Given the description of an element on the screen output the (x, y) to click on. 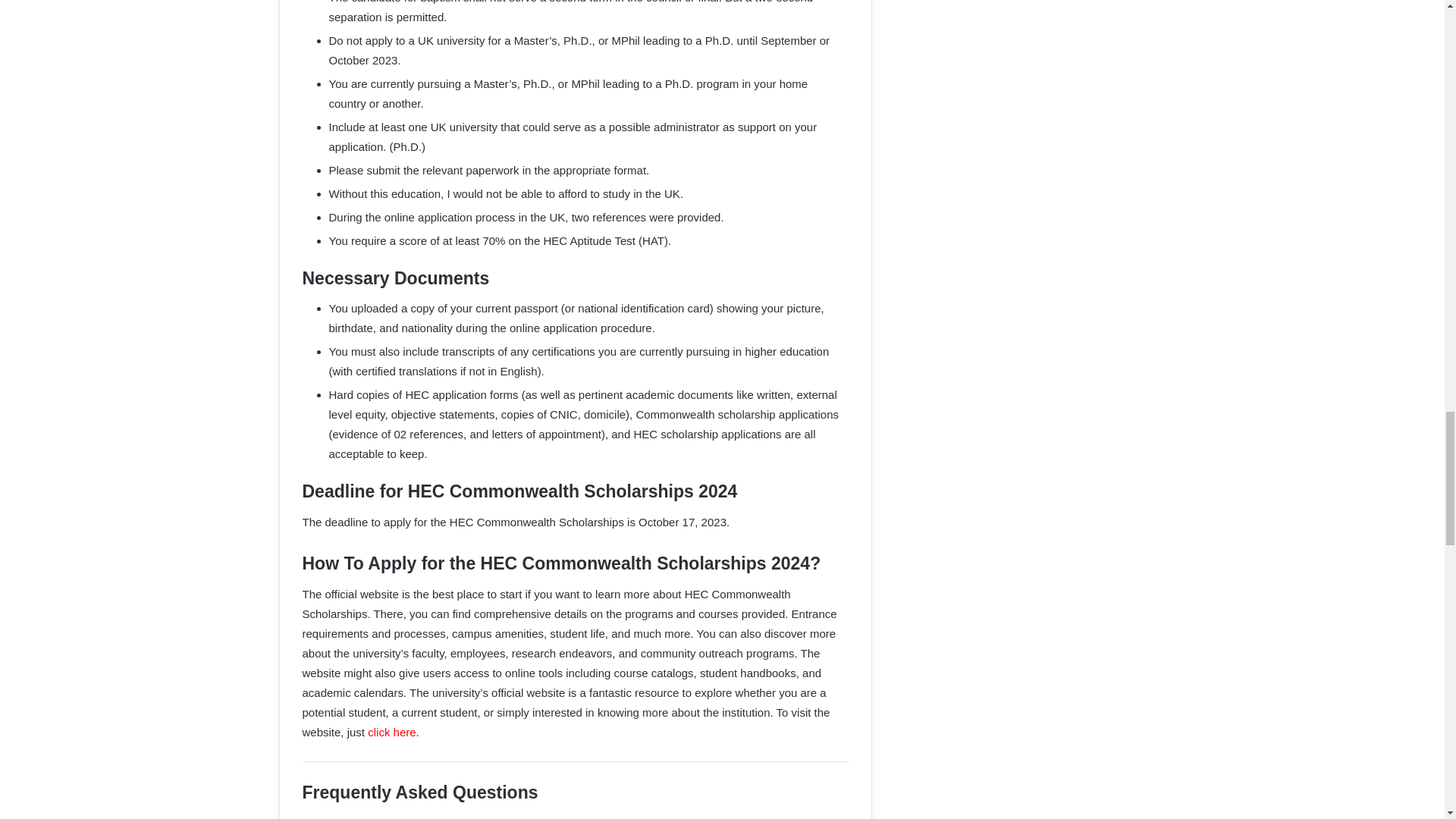
click here (391, 731)
